Given the description of an element on the screen output the (x, y) to click on. 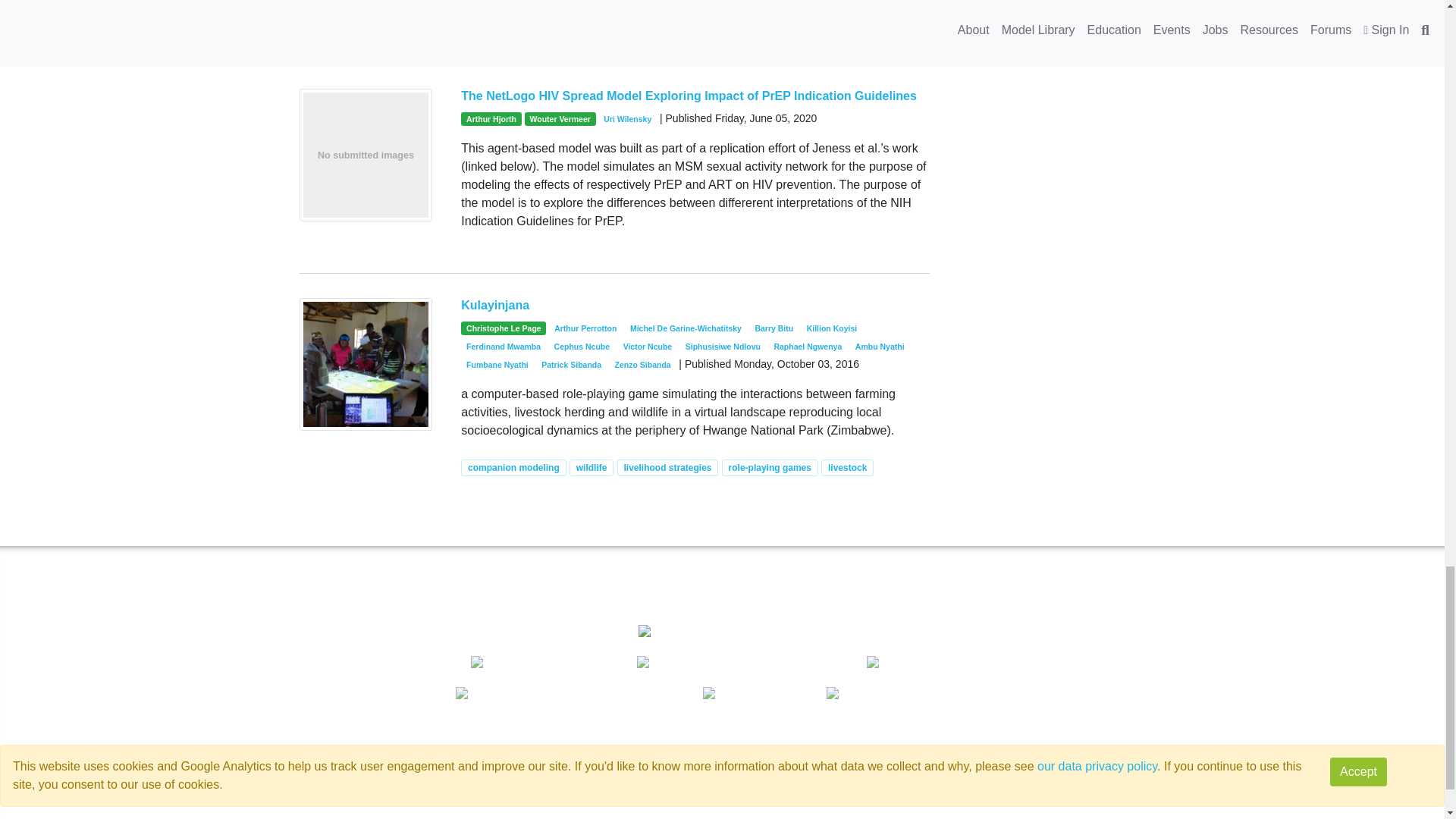
YouTube Channel (1113, 662)
CoMSES Net on GitHub (794, 805)
RSS Feed (1109, 710)
